Given the description of an element on the screen output the (x, y) to click on. 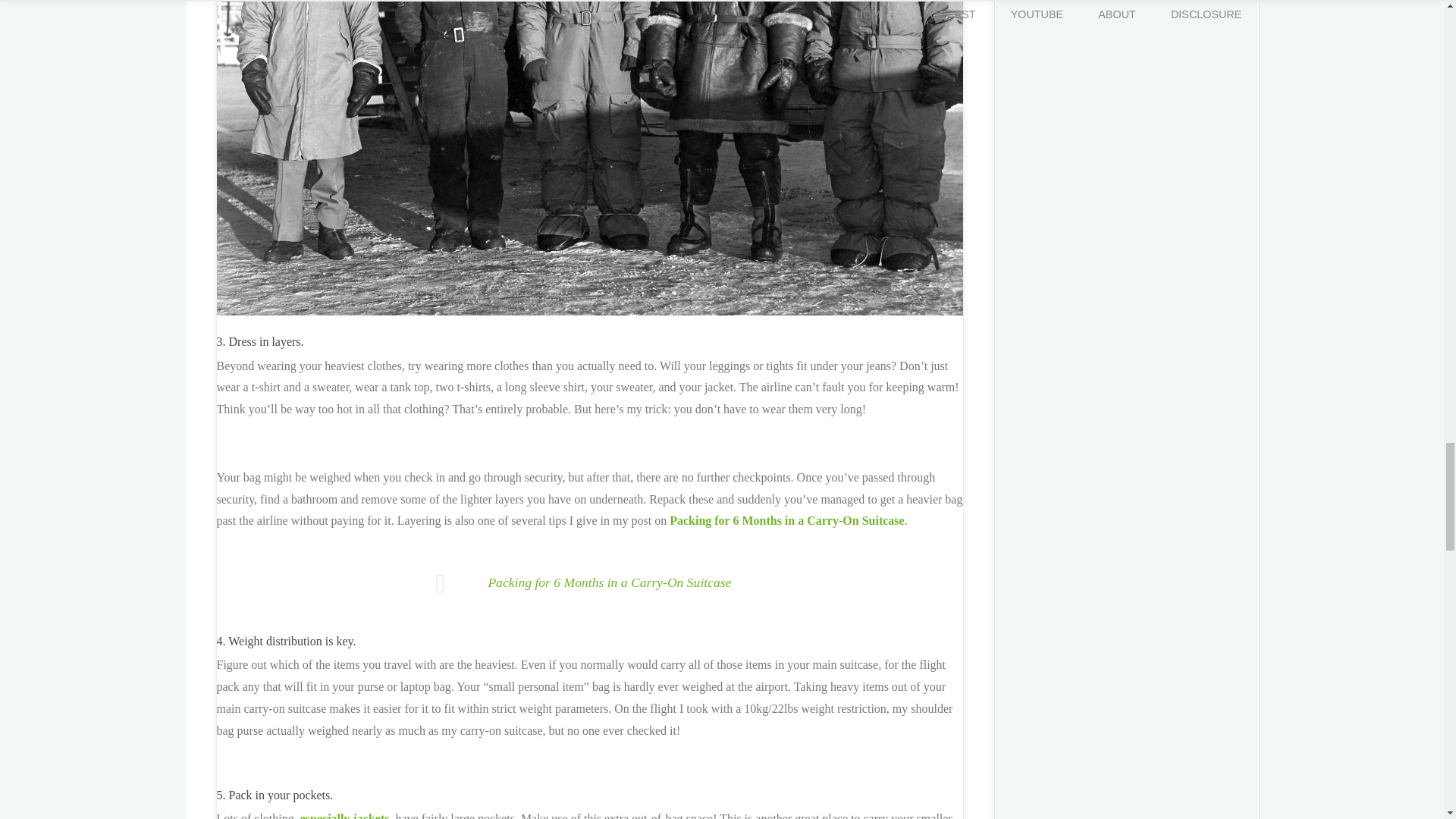
Packing for 6 Months in a Carry-On Suitcase (608, 581)
especially jackets (344, 815)
Packing for 6 Months in a Carry-On Suitcase (786, 520)
